Given the description of an element on the screen output the (x, y) to click on. 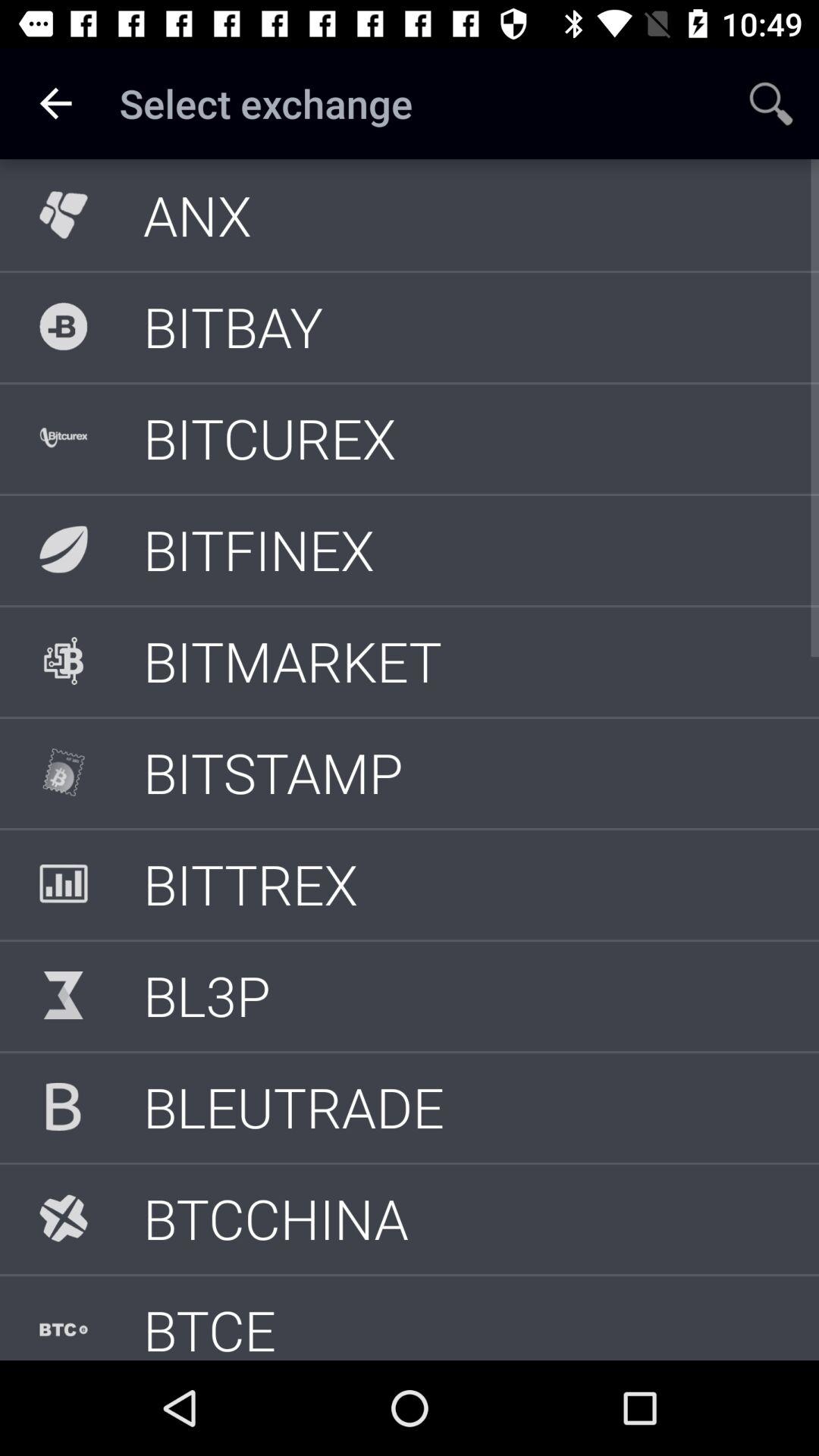
select the icon at the top right corner (771, 103)
